Given the description of an element on the screen output the (x, y) to click on. 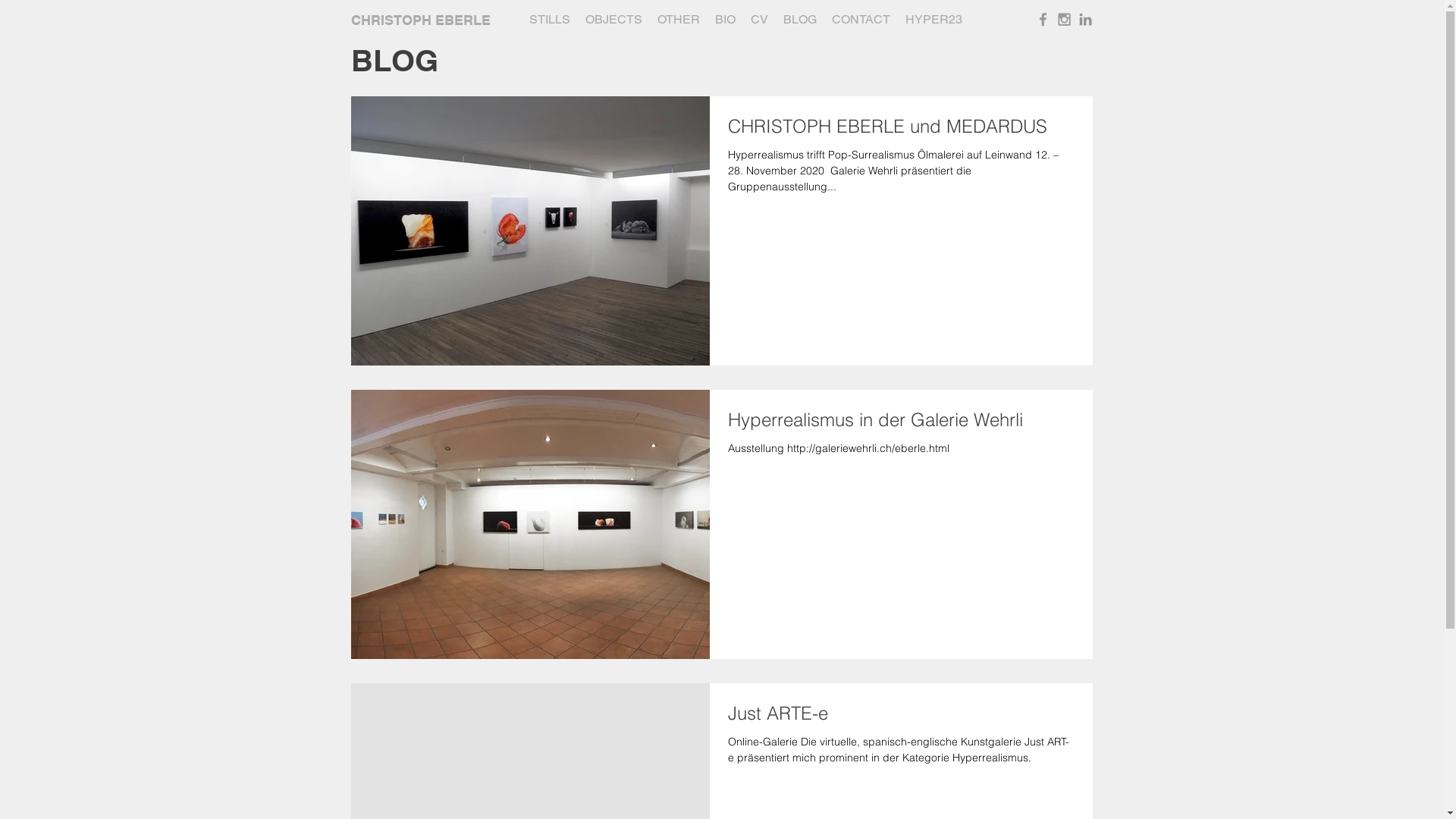
STILLS Element type: text (549, 18)
CONTACT Element type: text (860, 18)
Just ARTE-e Element type: text (901, 716)
BIO Element type: text (724, 18)
CHRISTOPH EBERLE und MEDARDUS Element type: text (901, 130)
CHRISTOPH EBERLE Element type: text (419, 19)
OTHER Element type: text (677, 18)
OBJECTS Element type: text (613, 18)
BLOG Element type: text (799, 18)
CV Element type: text (759, 18)
Hyperrealismus in der Galerie Wehrli Element type: text (901, 423)
HYPER23 Element type: text (933, 18)
